Given the description of an element on the screen output the (x, y) to click on. 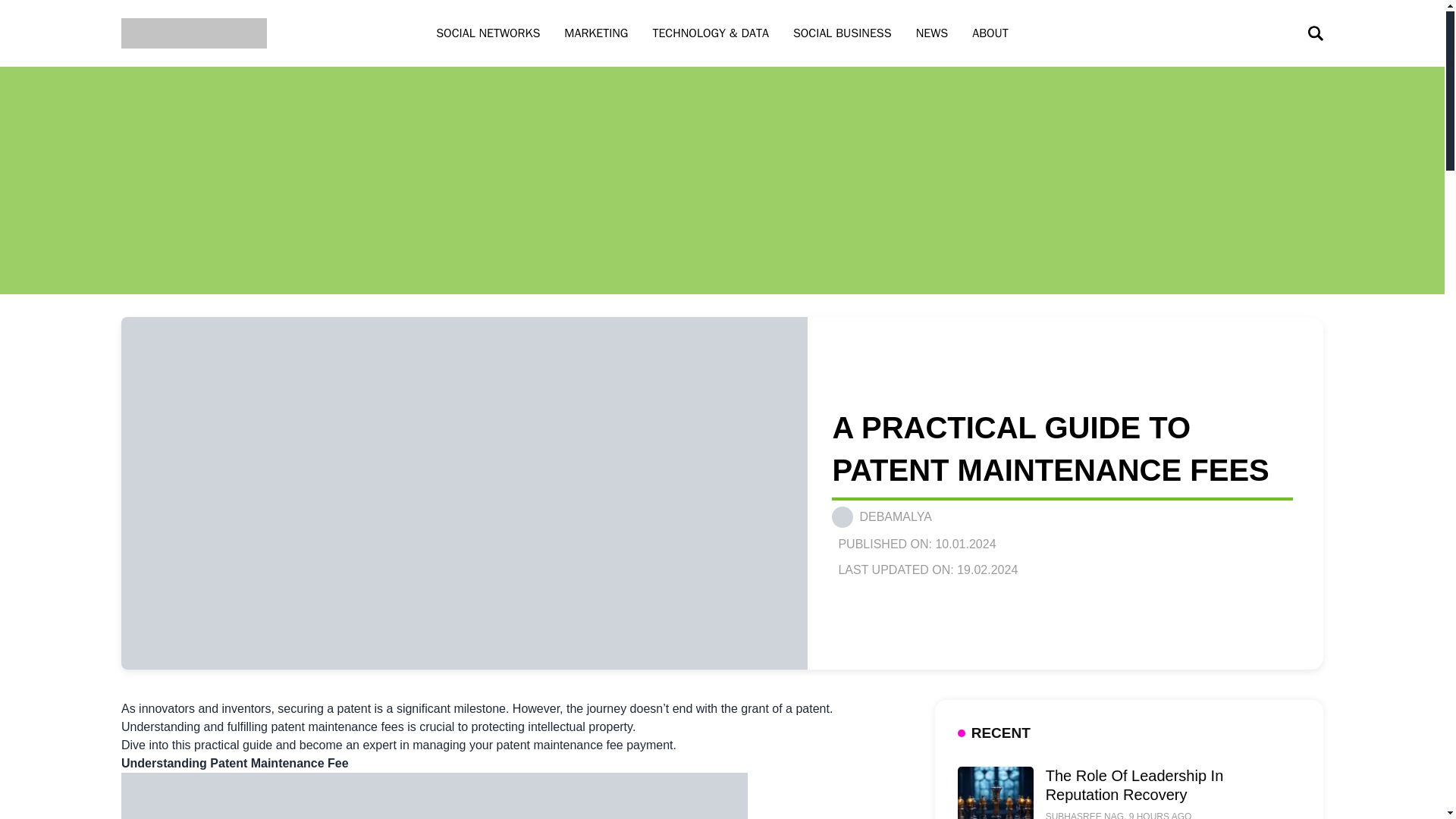
SOCIAL BUSINESS (842, 33)
Posts by Debamalya (895, 516)
Posts by Subhasree Nag (1084, 815)
MARKETING (595, 33)
NEWS (932, 33)
SOCIAL NETWORKS (487, 33)
ABOUT (989, 33)
